Given the description of an element on the screen output the (x, y) to click on. 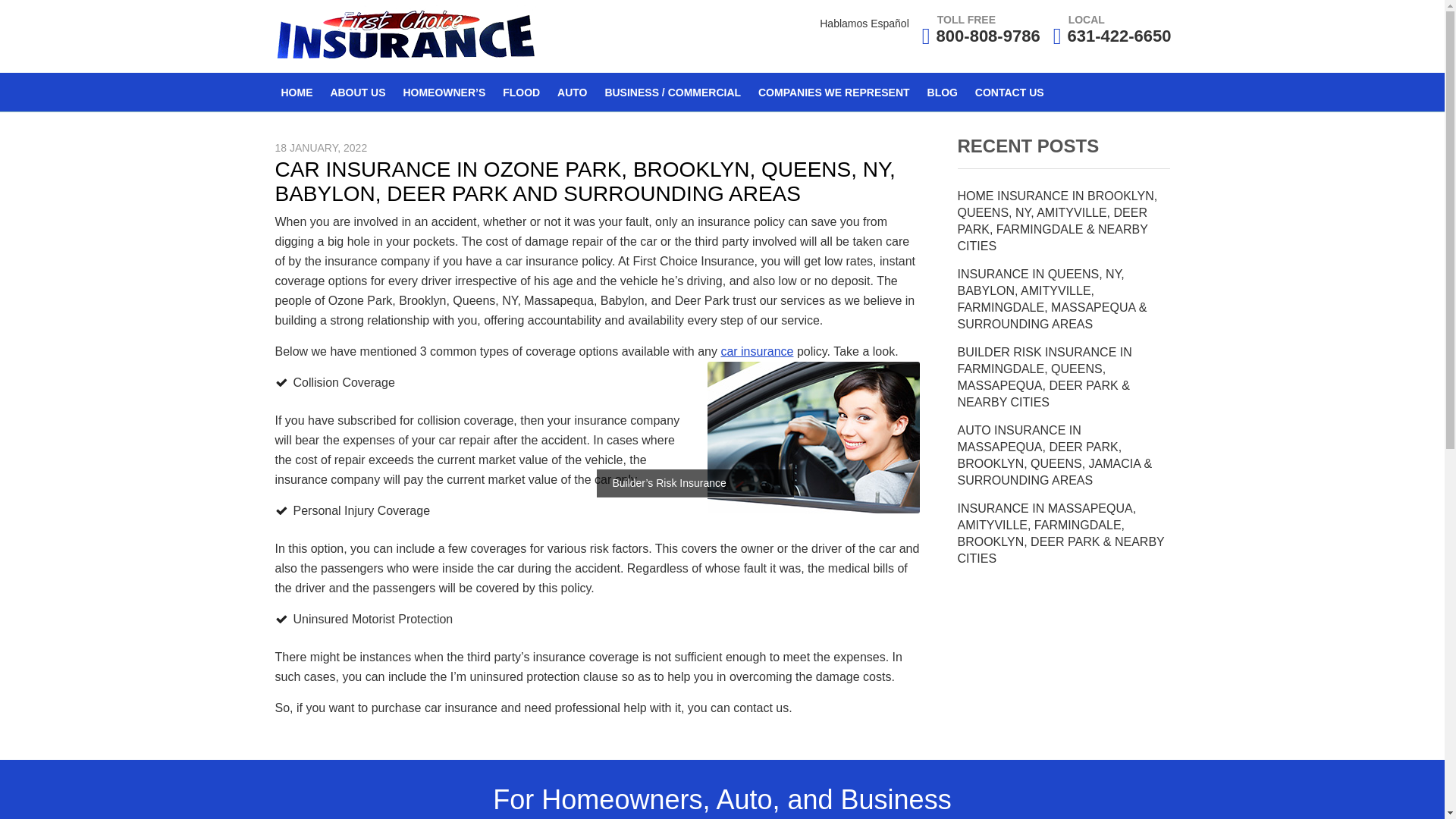
COMPANIES WE REPRESENT (834, 91)
CONTACT US (1009, 91)
AUTO (572, 91)
HOME (296, 91)
ABOUT US (357, 91)
car insurance (756, 350)
800-808-9786 (988, 35)
631-422-6650 (1118, 35)
BLOG (942, 91)
FLOOD (521, 91)
